Given the description of an element on the screen output the (x, y) to click on. 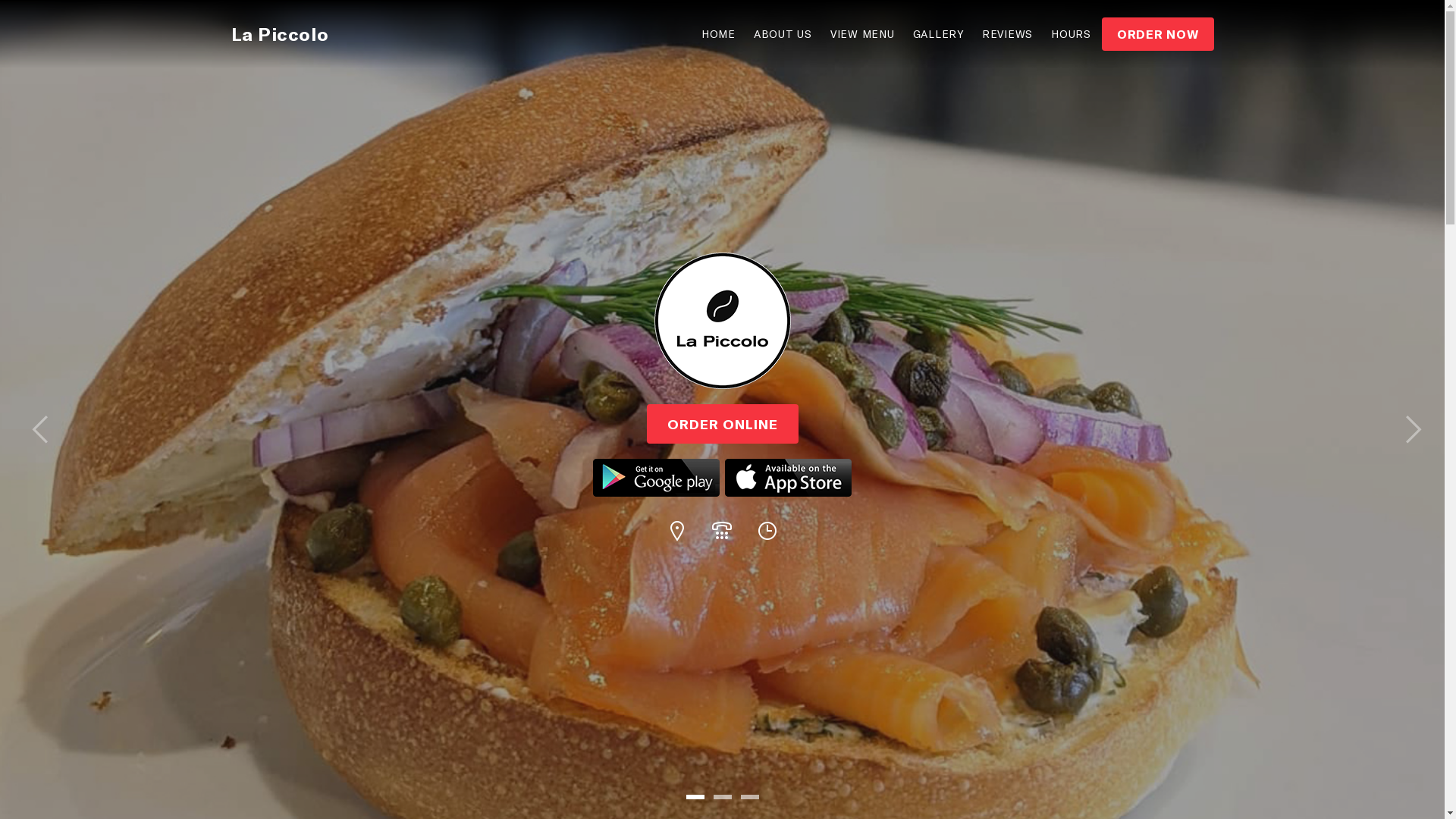
La Piccolo Element type: text (279, 33)
HOURS Element type: text (1070, 33)
REVIEWS Element type: text (1007, 33)
HOME Element type: text (718, 33)
ORDER ONLINE Element type: text (721, 450)
VIEW MENU Element type: text (862, 33)
GALLERY Element type: text (938, 33)
ORDER NOW Element type: text (1157, 33)
ABOUT US Element type: text (782, 33)
